Given the description of an element on the screen output the (x, y) to click on. 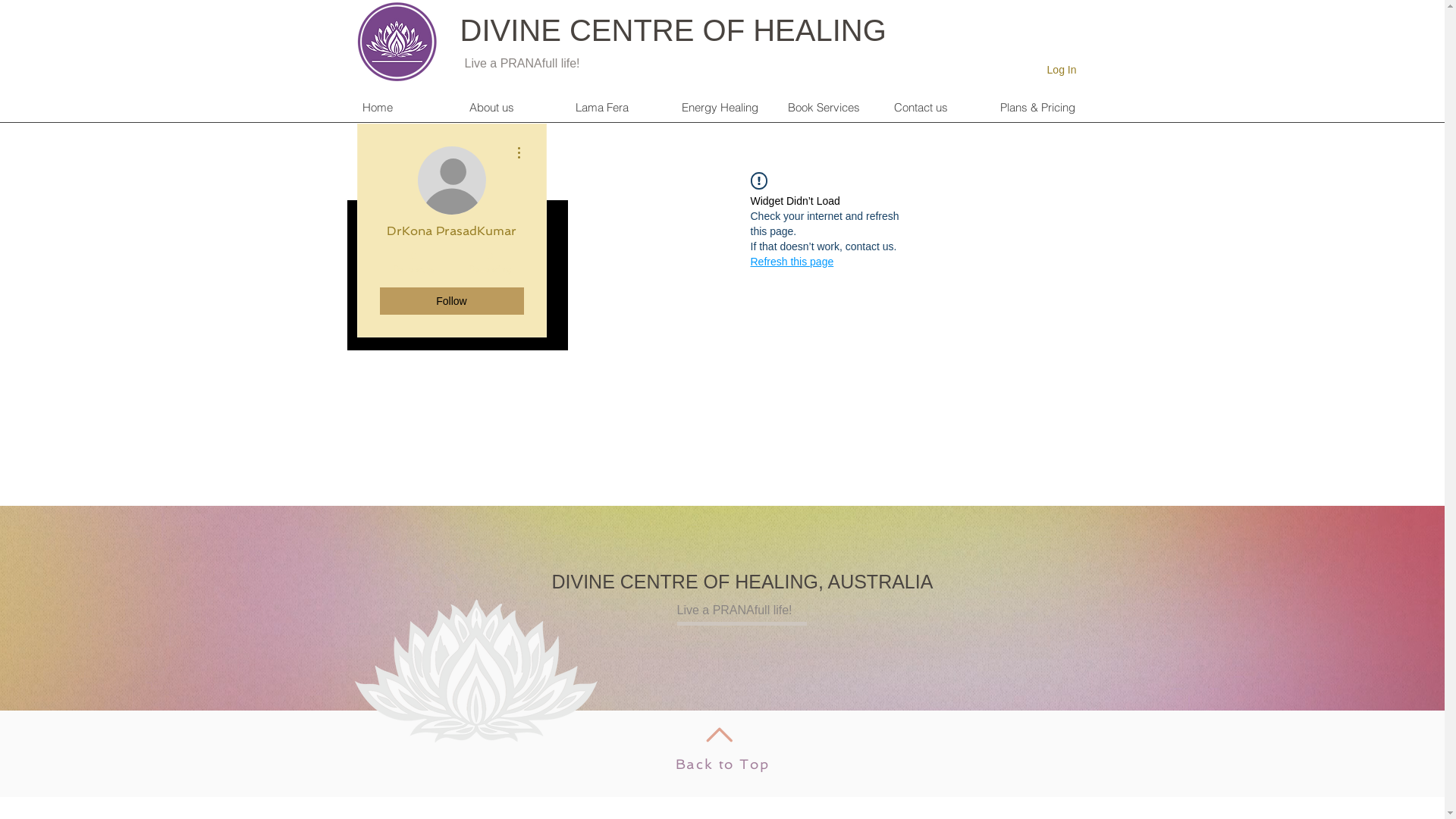
Energy Healing Element type: text (721, 107)
Log In Element type: text (1061, 70)
Plans & Pricing Element type: text (1040, 107)
Book Services Element type: text (828, 107)
About us Element type: text (509, 107)
Lama Fera Element type: text (615, 107)
Follow Element type: text (451, 300)
Home Element type: text (403, 107)
0
Followers Element type: text (412, 261)
Contact us Element type: text (934, 107)
Refresh this page Element type: text (792, 261)
0
Following Element type: text (489, 261)
Back to Top Element type: text (722, 763)
